Given the description of an element on the screen output the (x, y) to click on. 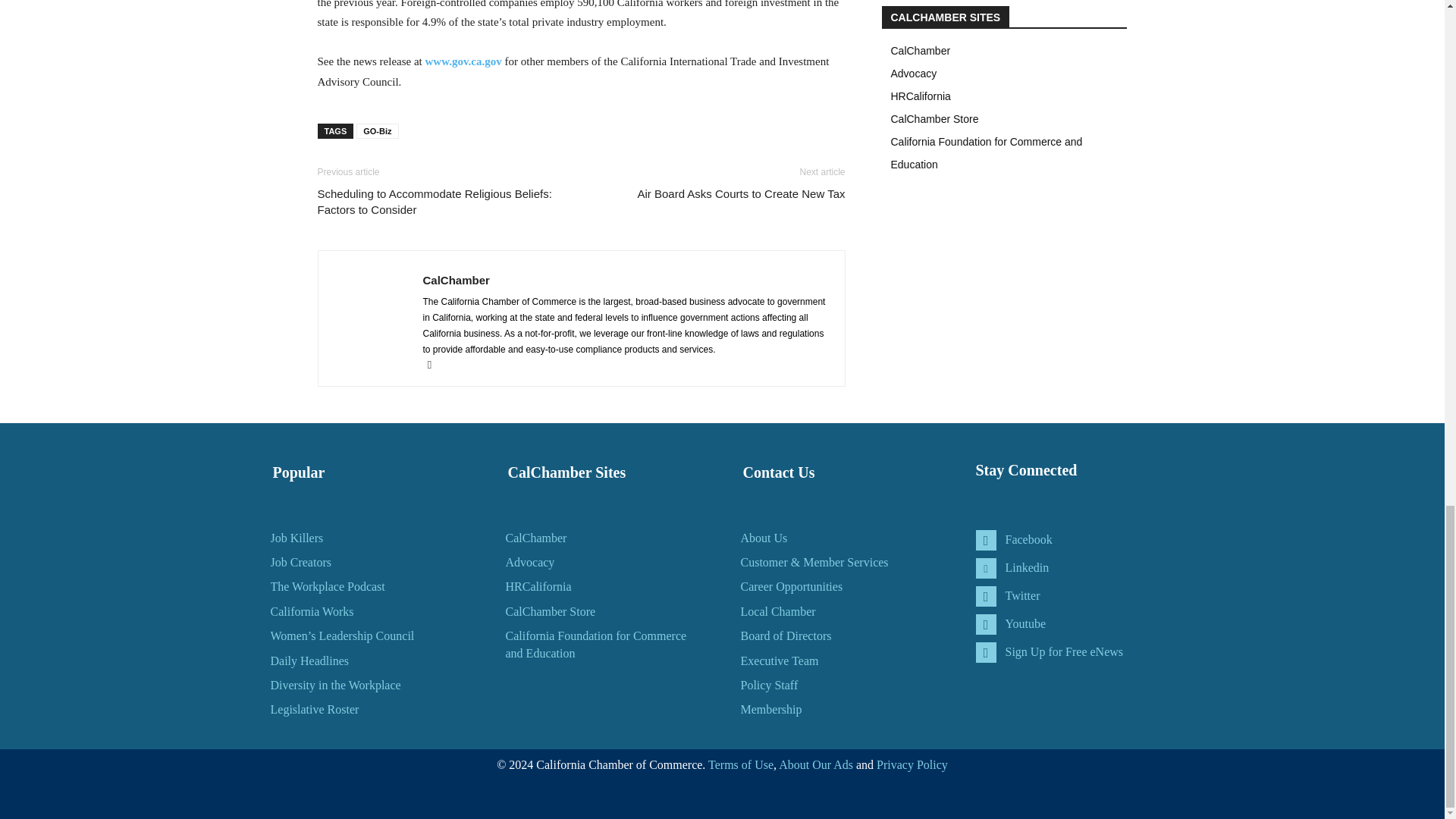
GO-Biz (376, 130)
www.gov.ca.gov (463, 61)
CalChamber (456, 279)
Air Board Asks Courts to Create New Tax (740, 193)
